Given the description of an element on the screen output the (x, y) to click on. 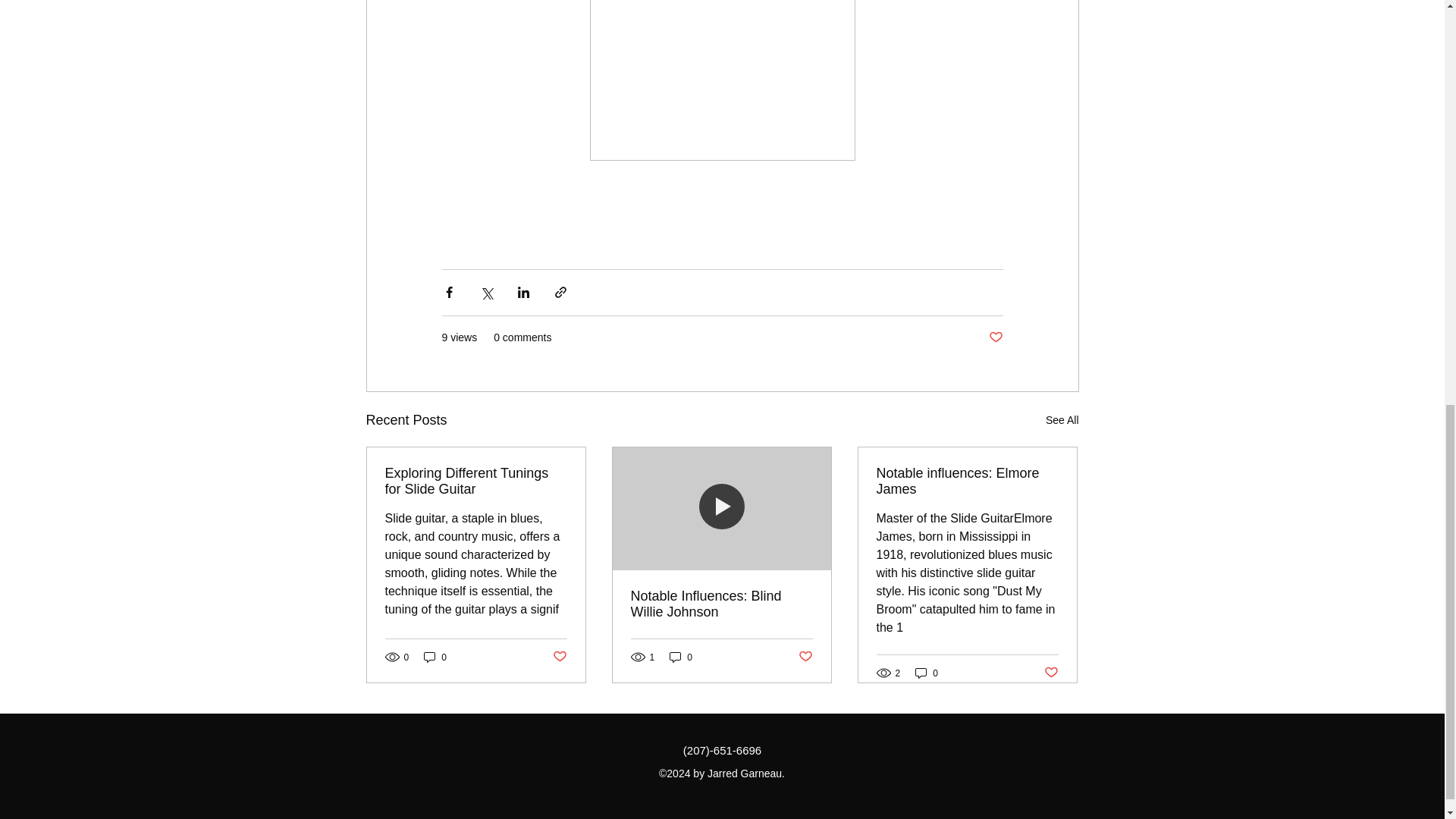
0 (435, 657)
0 (926, 672)
Post not marked as liked (804, 657)
Post not marked as liked (558, 657)
Exploring Different Tunings for Slide Guitar (476, 481)
Post not marked as liked (1050, 672)
See All (1061, 420)
Notable influences: Elmore James (967, 481)
0 (681, 657)
Notable Influences: Blind Willie Johnson (721, 603)
Post not marked as liked (995, 337)
